Given the description of an element on the screen output the (x, y) to click on. 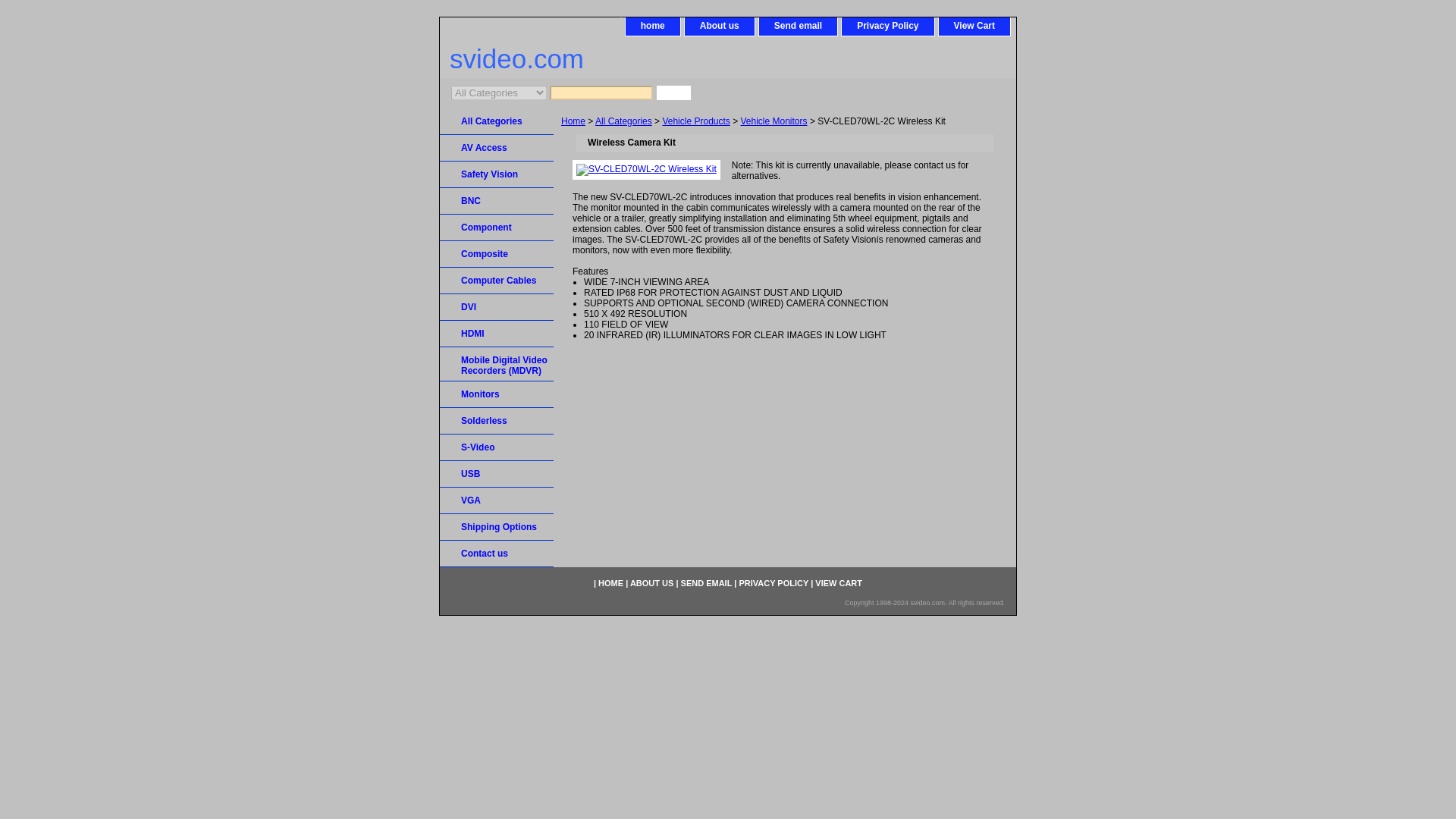
USB (496, 474)
HDMI (496, 334)
Solderless (496, 420)
Composite (496, 253)
All Categories (623, 121)
ABOUT US (651, 583)
Composite (496, 253)
All Categories (496, 121)
VGA (496, 500)
DVI (496, 307)
Component (496, 227)
AV Access (496, 148)
VGA (496, 500)
AV Access  (496, 148)
svideo.com (628, 60)
